Given the description of an element on the screen output the (x, y) to click on. 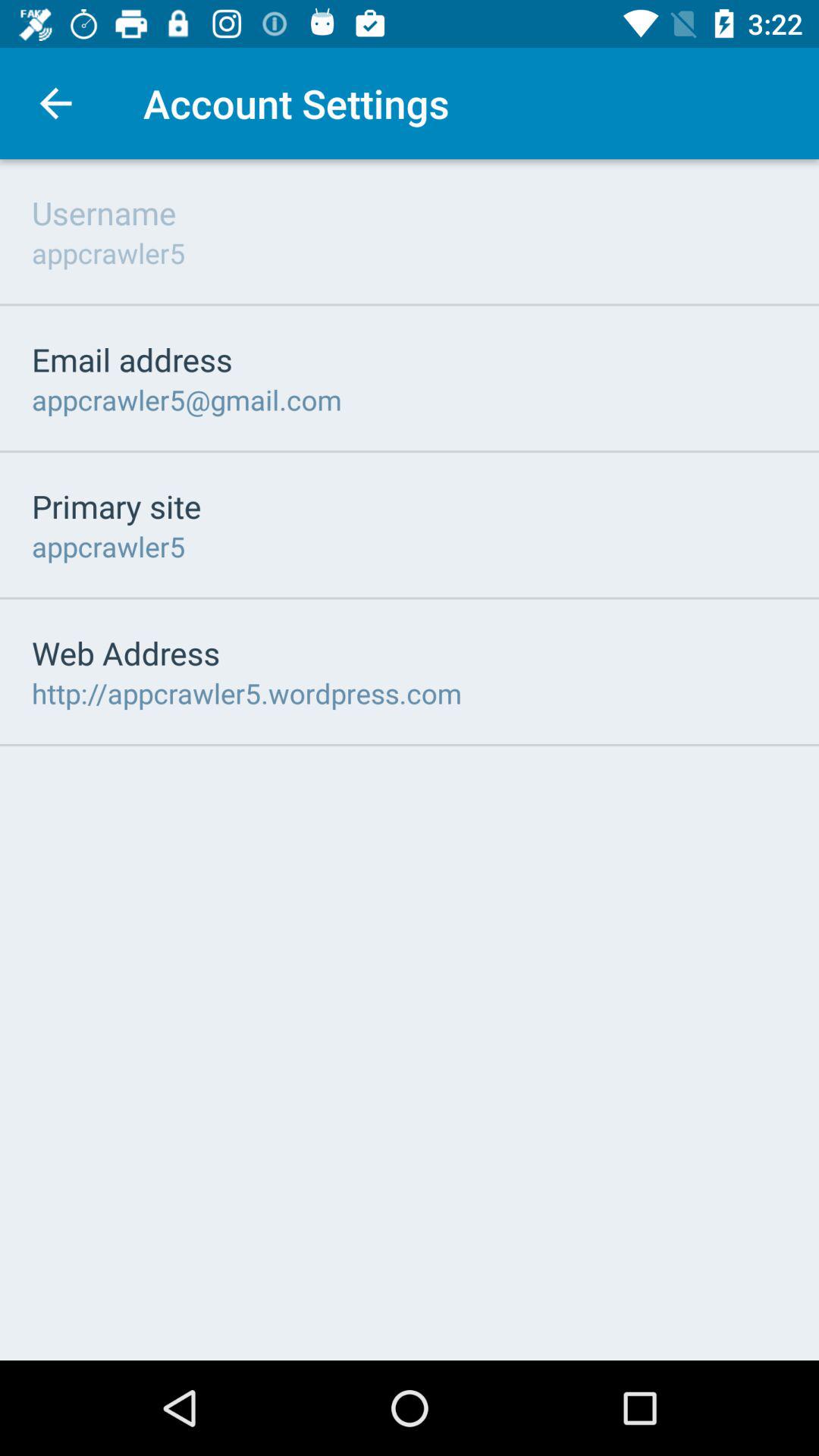
select the icon above the appcrawler5 (116, 505)
